Given the description of an element on the screen output the (x, y) to click on. 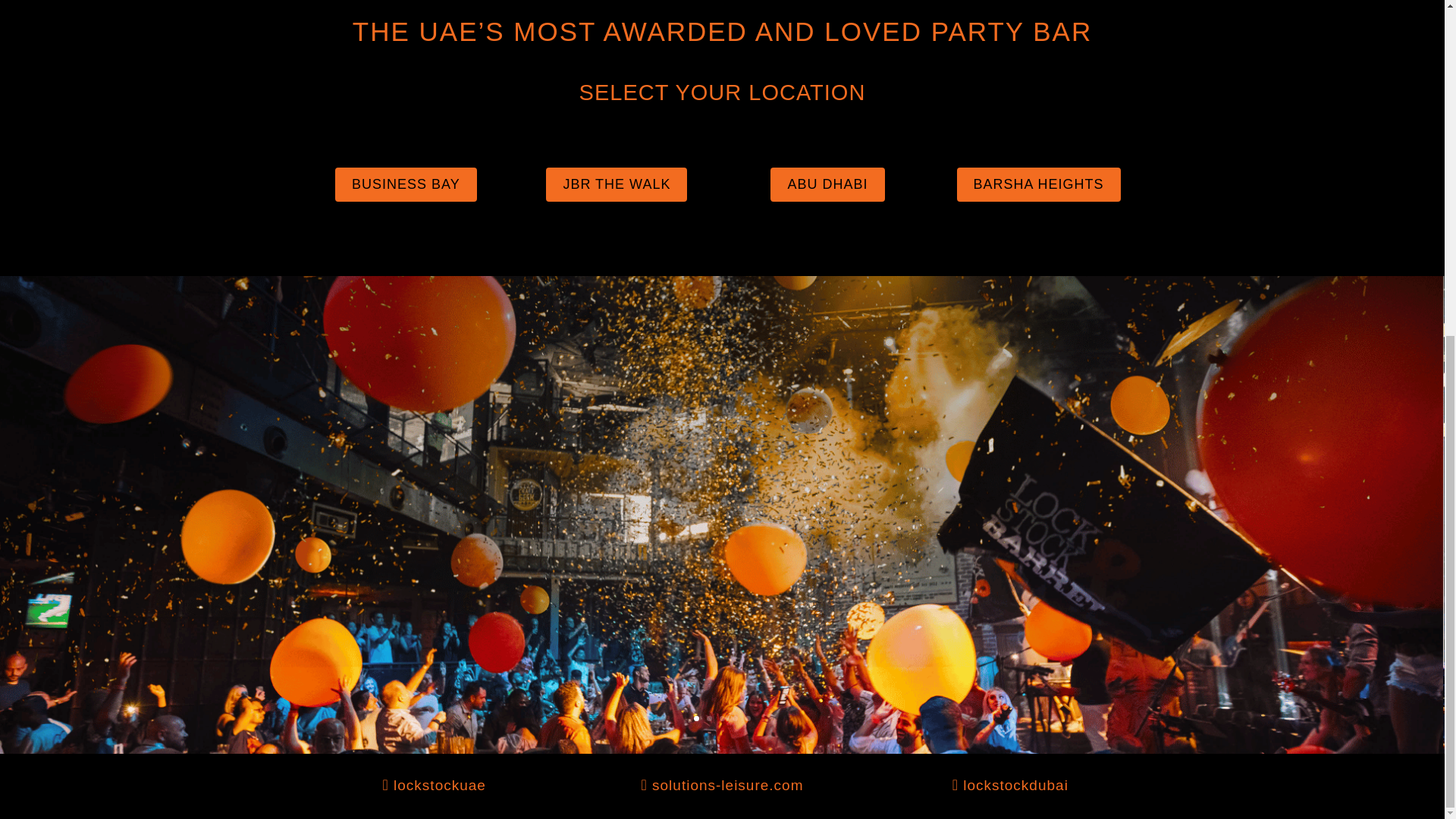
2 (708, 718)
BARSHA HEIGHTS (1038, 184)
ABU DHABI (826, 184)
3 (722, 718)
BUSINESS BAY (405, 184)
5 (748, 718)
JBR THE WALK (616, 184)
4 (735, 718)
